Given the description of an element on the screen output the (x, y) to click on. 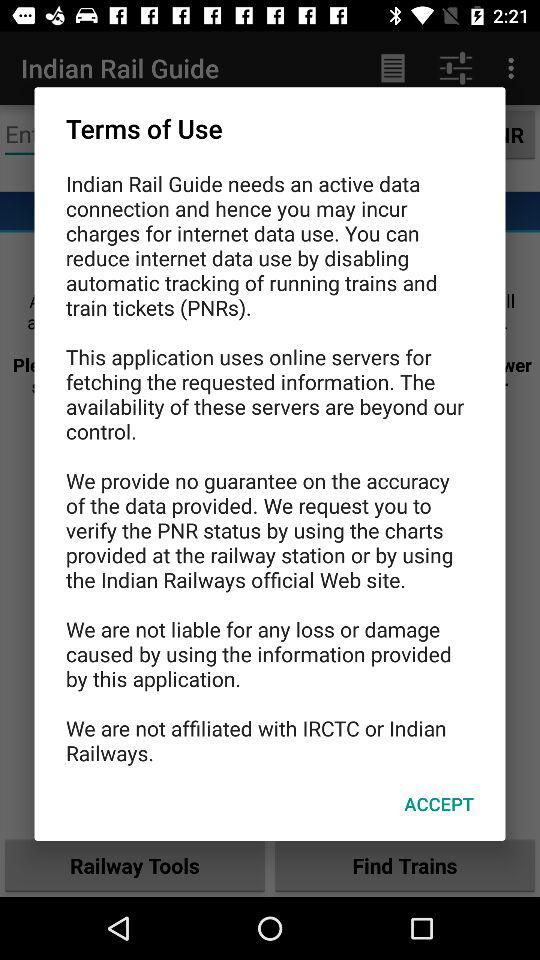
flip to accept item (438, 803)
